Given the description of an element on the screen output the (x, y) to click on. 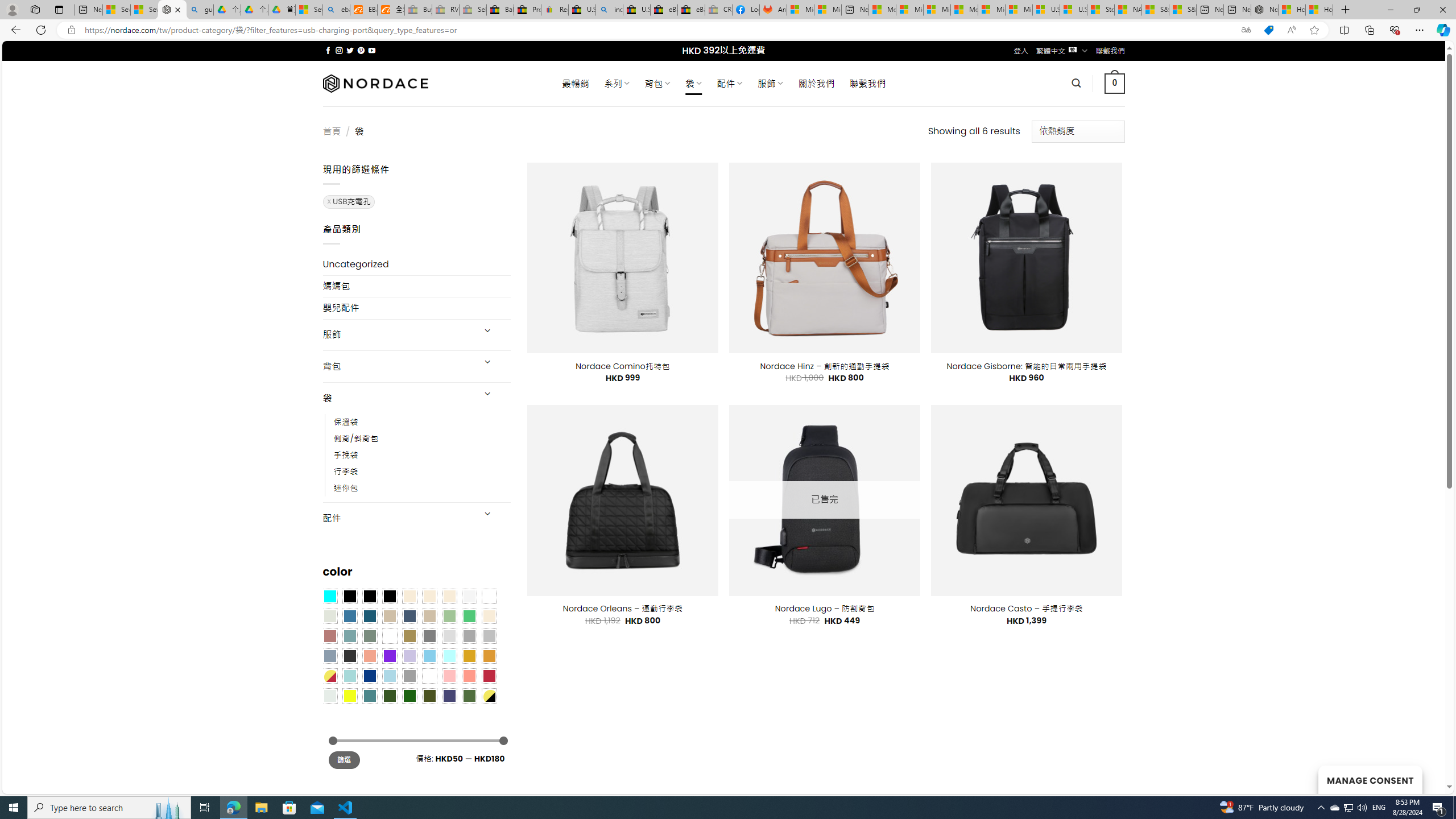
Register: Create a personal eBay account (554, 9)
